Given the description of an element on the screen output the (x, y) to click on. 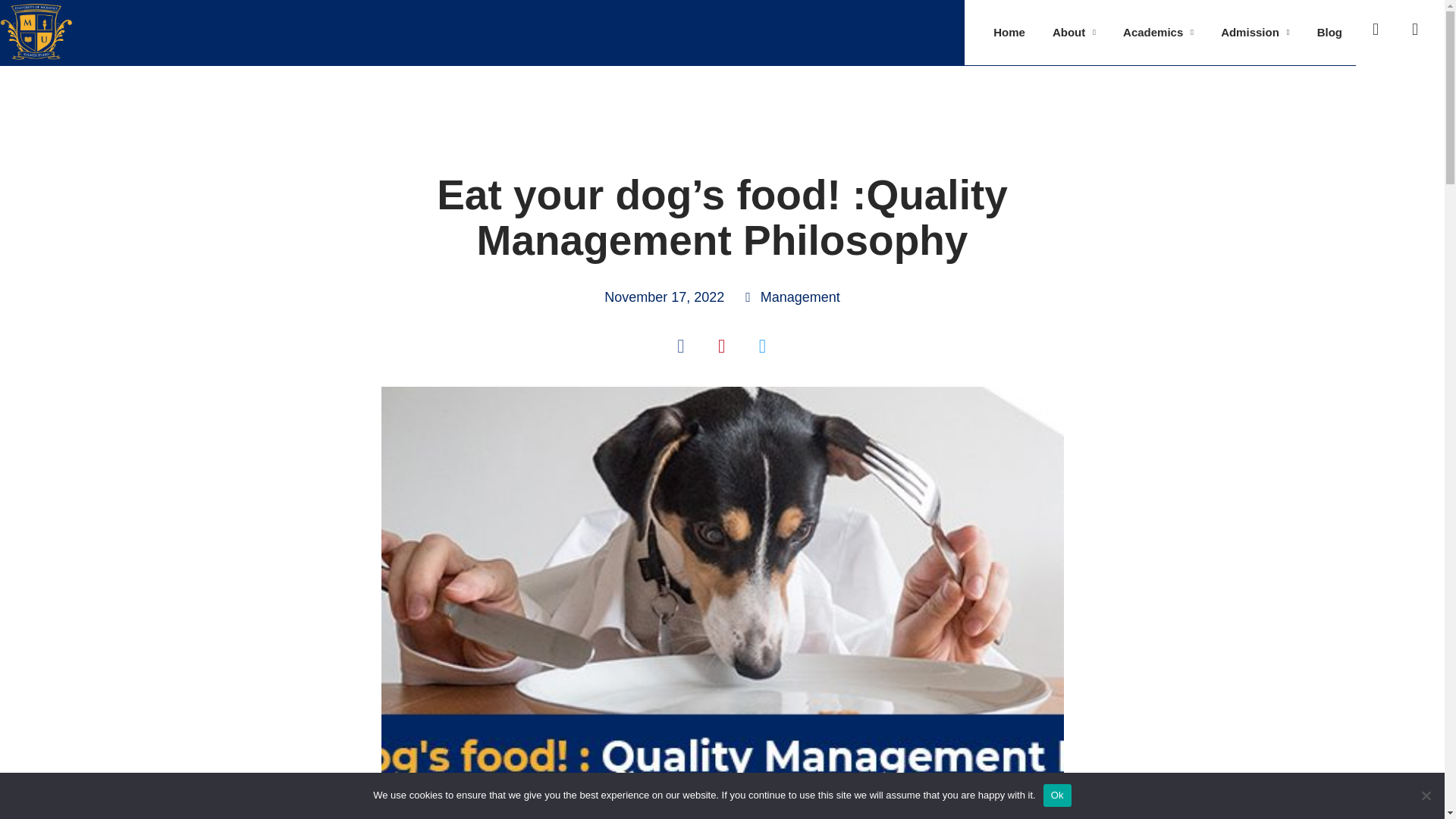
No (1159, 32)
